Given the description of an element on the screen output the (x, y) to click on. 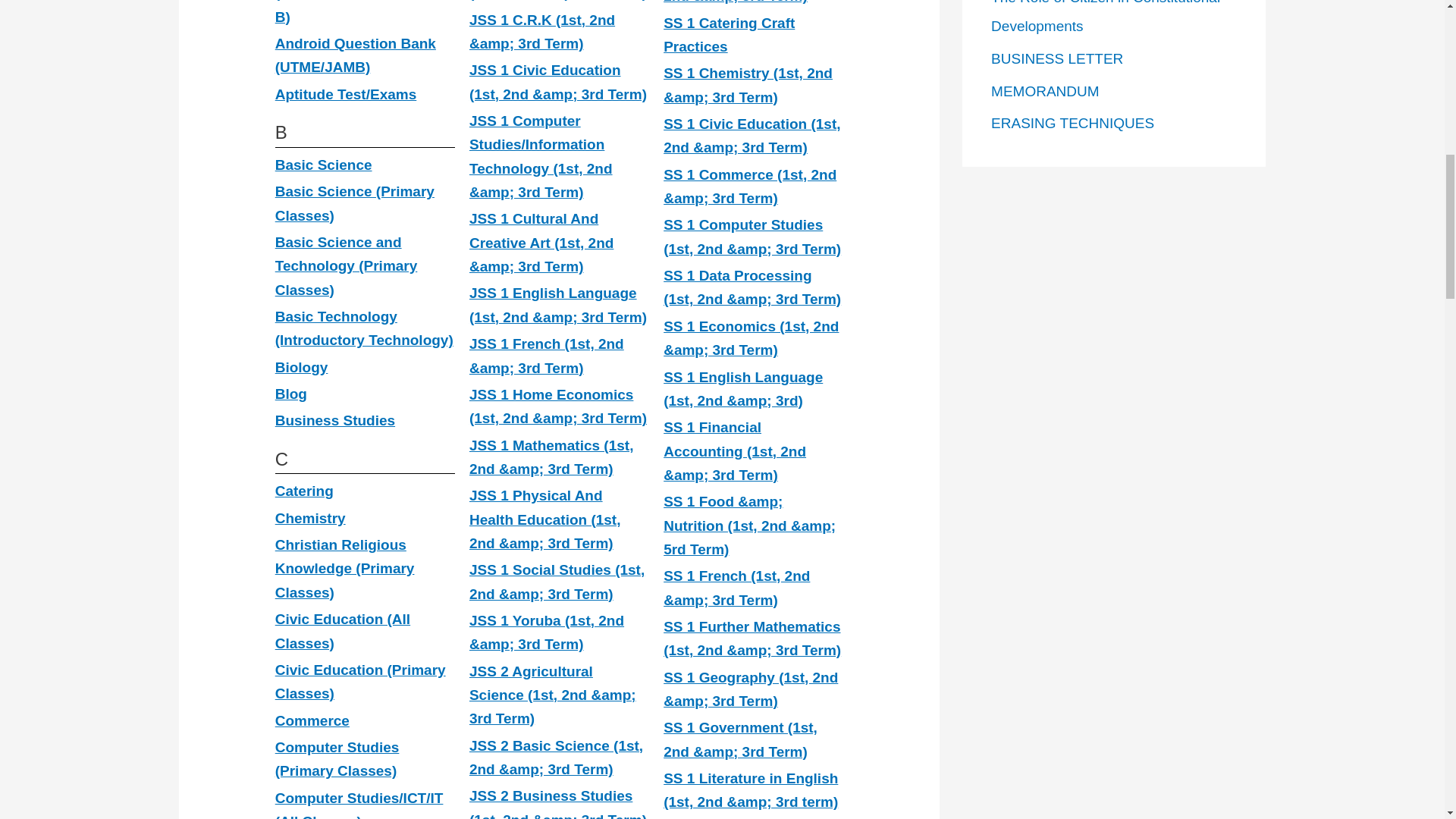
Business Studies (334, 420)
Business Studies (334, 420)
Commerce (312, 720)
Blog (291, 393)
Blog (291, 393)
Basic Science (323, 164)
Chemistry (310, 518)
Catering (304, 490)
Basic Science (323, 164)
Biology (302, 367)
Biology (302, 367)
Catering (304, 490)
